Given the description of an element on the screen output the (x, y) to click on. 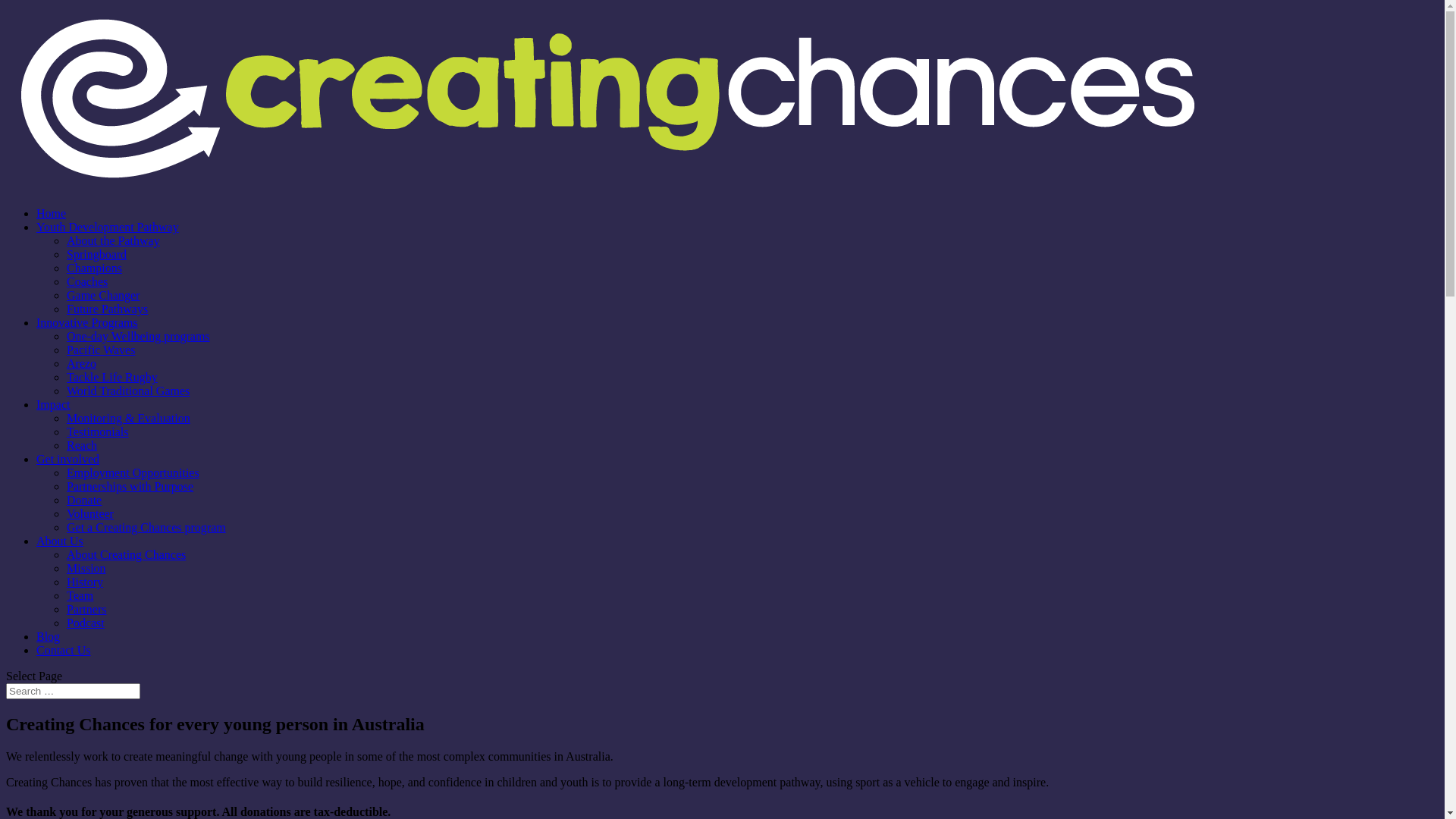
Get involved Element type: text (67, 458)
Impact Element type: text (52, 404)
Contact Us Element type: text (63, 649)
Game Changer Element type: text (102, 294)
Mission Element type: text (86, 567)
World Traditional Games Element type: text (127, 390)
Innovative Programs Element type: text (87, 322)
Champions Element type: text (94, 267)
Get a Creating Chances program Element type: text (145, 526)
Home Element type: text (50, 213)
Partnerships with Purpose Element type: text (129, 486)
Springboard Element type: text (96, 253)
Podcast Element type: text (85, 622)
Tackle Life Rugby Element type: text (111, 376)
Youth Development Pathway Element type: text (107, 226)
Monitoring & Evaluation Element type: text (128, 417)
One-day Wellbeing programs Element type: text (138, 335)
About the Pathway Element type: text (113, 240)
Volunteer Element type: text (89, 513)
Team Element type: text (79, 595)
Future Pathways Element type: text (106, 308)
Reach Element type: text (81, 445)
About Us Element type: text (59, 540)
Arezo Element type: text (81, 363)
Pacific Waves Element type: text (100, 349)
Coaches Element type: text (86, 281)
Search for: Element type: hover (73, 691)
Employment Opportunities Element type: text (132, 472)
Partners Element type: text (86, 608)
History Element type: text (84, 581)
About Creating Chances Element type: text (125, 554)
Blog Element type: text (47, 636)
Donate Element type: text (83, 499)
Testimonials Element type: text (97, 431)
